Given the description of an element on the screen output the (x, y) to click on. 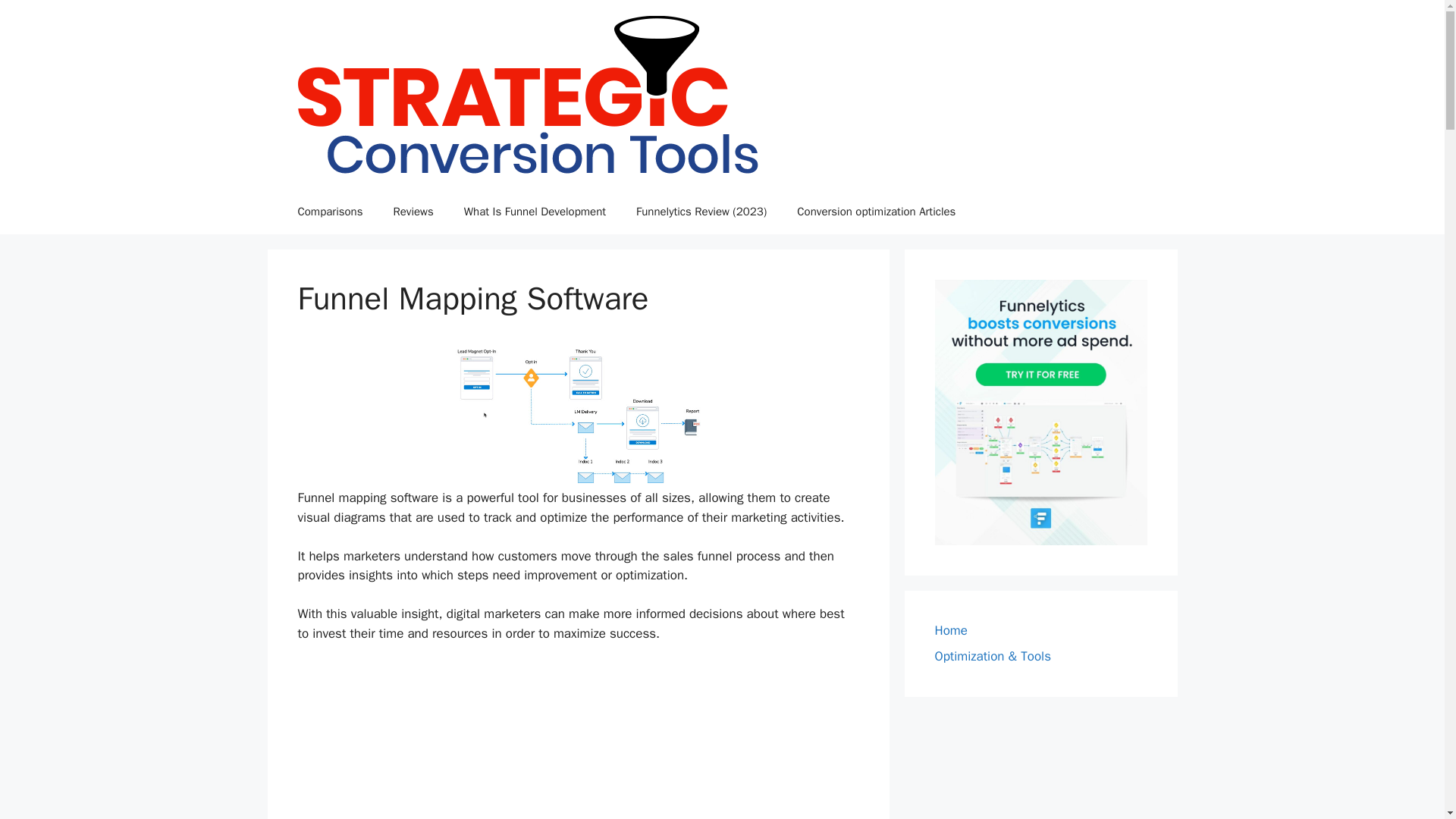
Home (950, 630)
Introduction To Funnelytics Free For Mapping Funnels (578, 740)
Reviews (412, 211)
What Is Funnel Development (534, 211)
Comparisons (329, 211)
Conversion optimization Articles (876, 211)
